Given the description of an element on the screen output the (x, y) to click on. 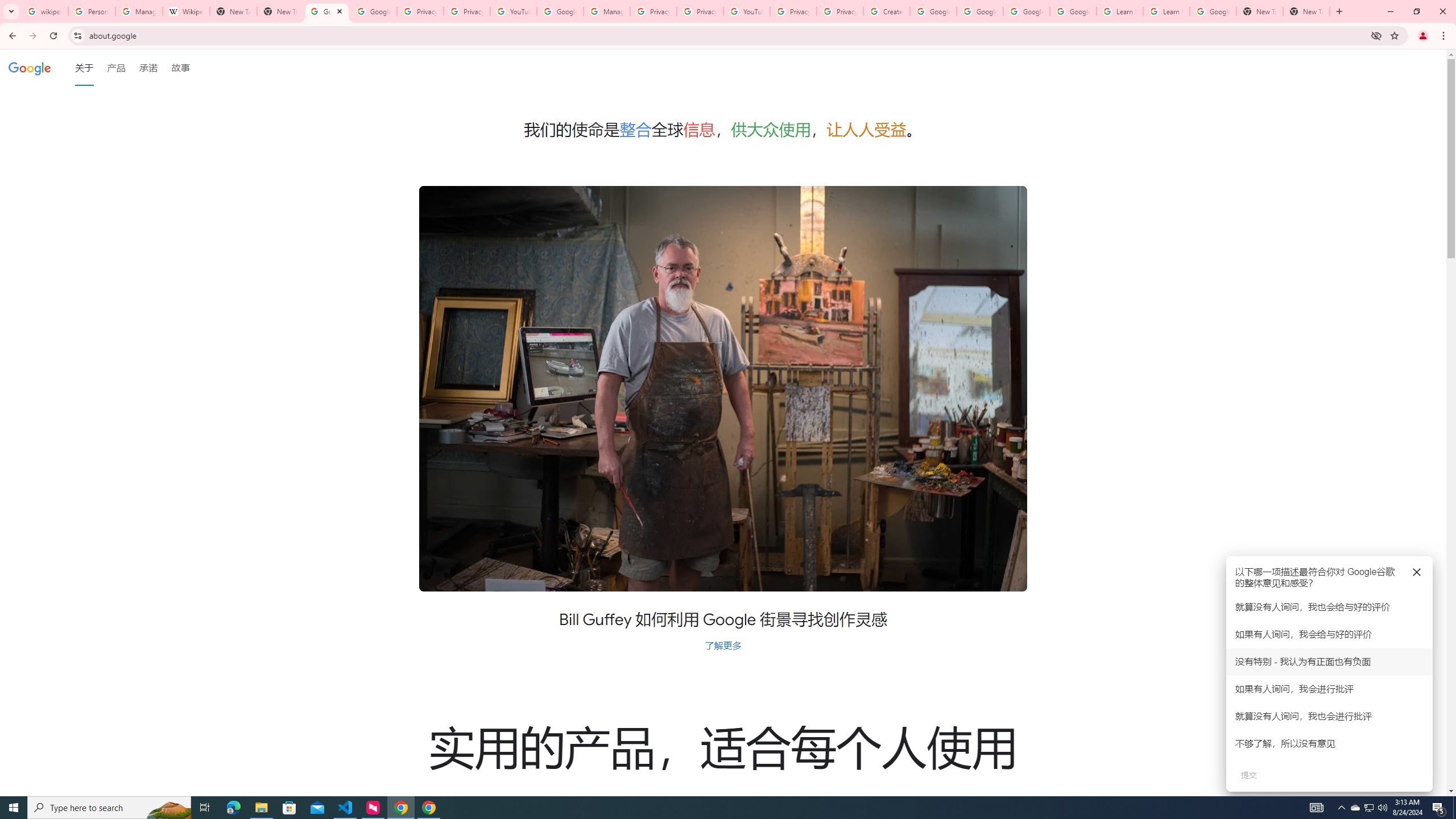
Google Account Help (933, 11)
Manage your Location History - Google Search Help (138, 11)
Create your Google Account (886, 11)
New Tab (1259, 11)
YouTube (512, 11)
Google Account Help (1026, 11)
New Tab (279, 11)
